Given the description of an element on the screen output the (x, y) to click on. 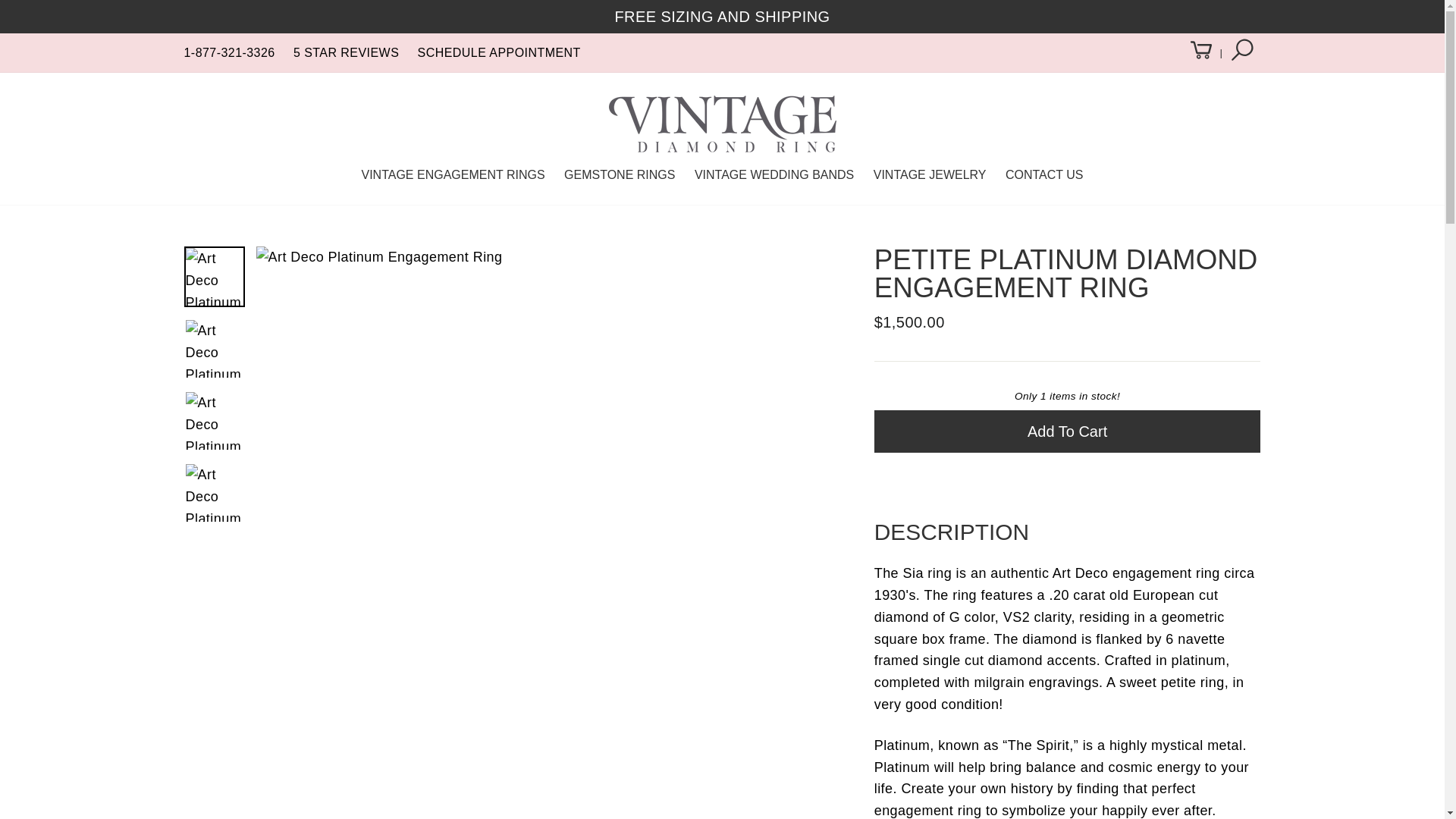
SCHEDULE APPOINTMENT (499, 52)
GEMSTONE RINGS (619, 174)
VINTAGE ENGAGEMENT RINGS (452, 174)
1-877-321-3326 (229, 52)
5 STAR REVIEWS (345, 52)
VINTAGE WEDDING BANDS (774, 174)
VINTAGE JEWELRY (930, 174)
